Given the description of an element on the screen output the (x, y) to click on. 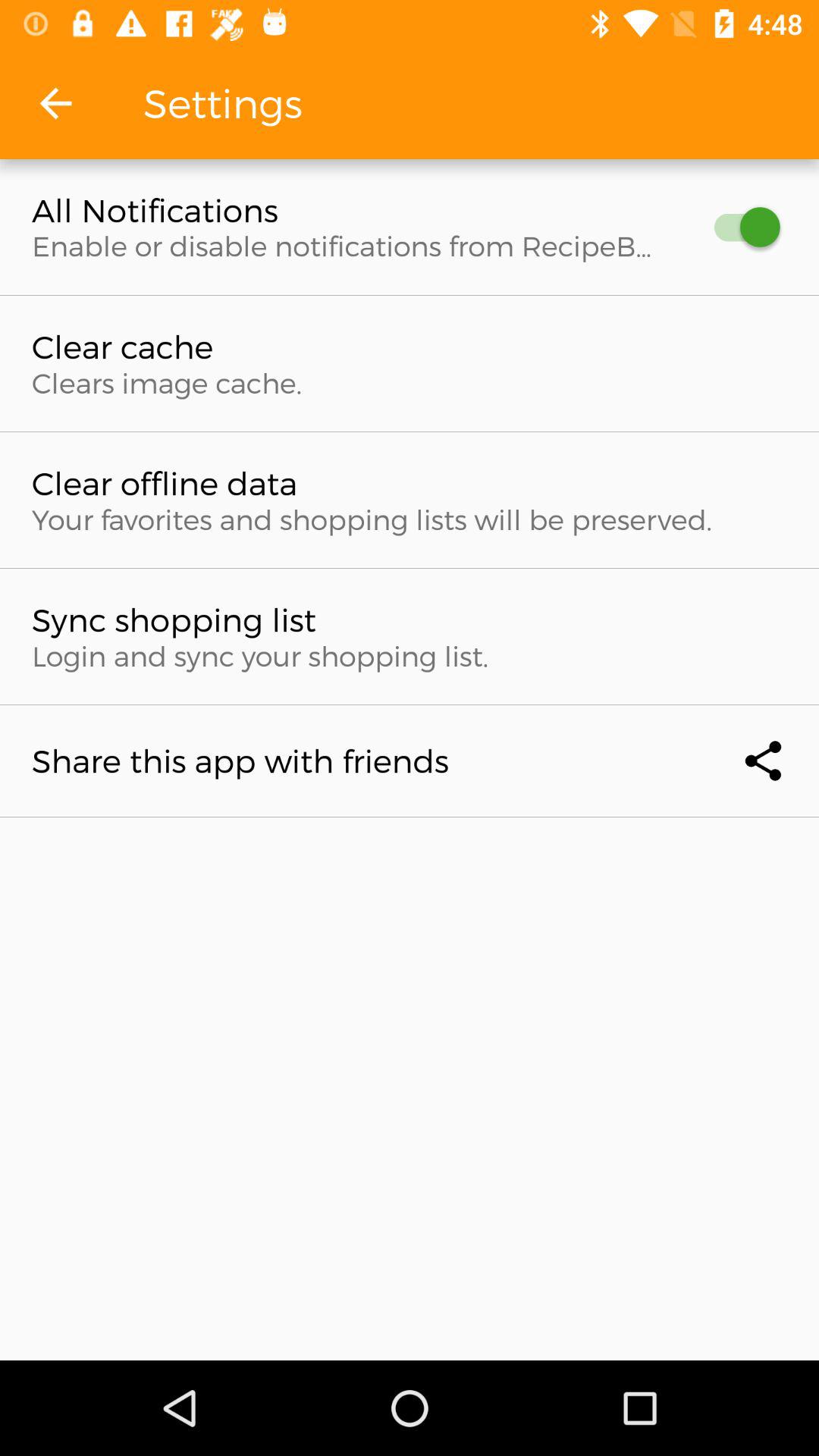
launch the app to the left of settings item (55, 103)
